Given the description of an element on the screen output the (x, y) to click on. 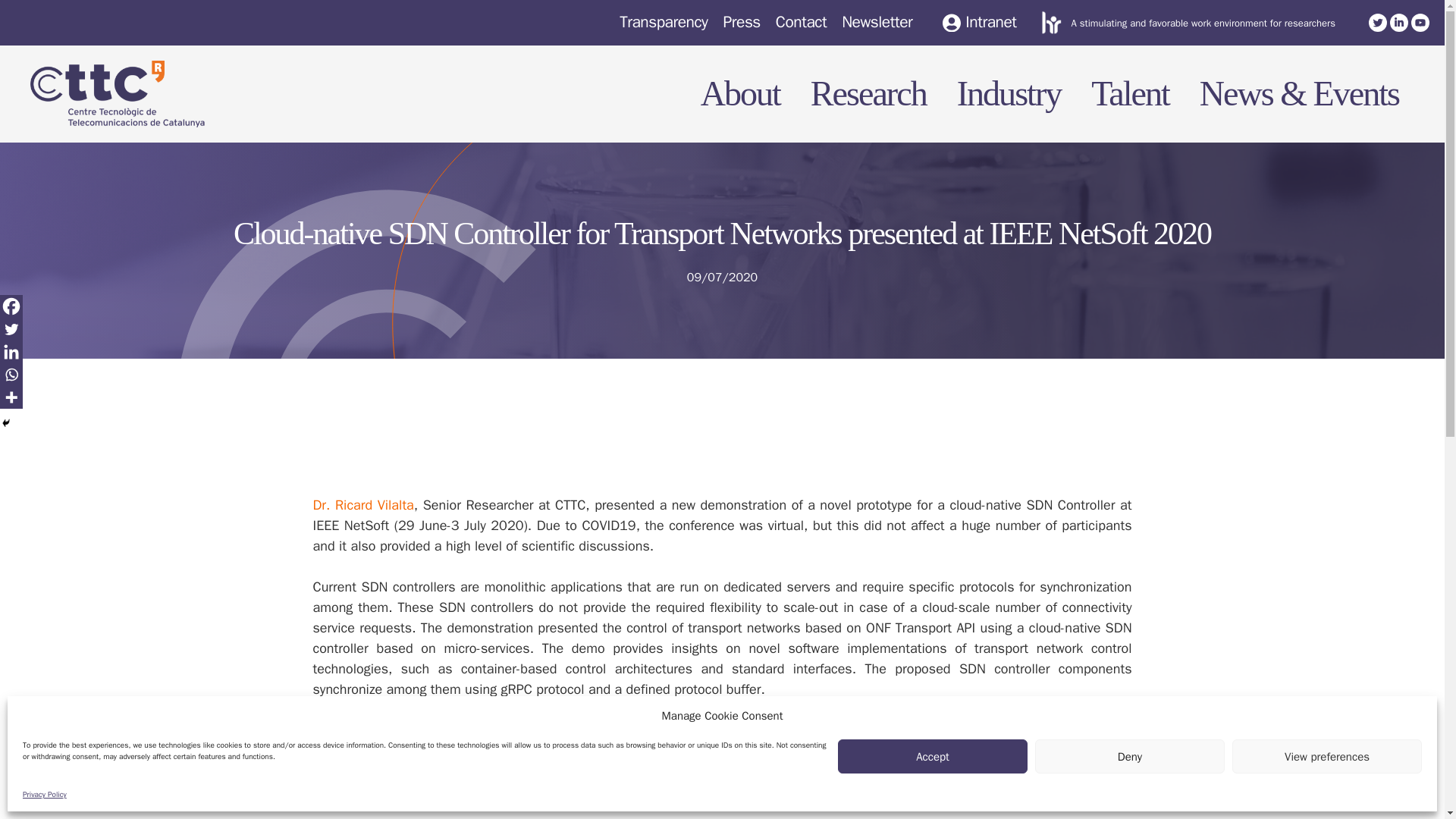
LinkedIn (1398, 22)
Accept (932, 756)
Transparency (663, 21)
More (11, 396)
A stimulating and favorable work environment for researchers (1203, 22)
About (732, 94)
Press (741, 21)
View preferences (1326, 756)
Intranet (979, 22)
Contact (801, 21)
Twitter (11, 328)
Linkedin (11, 351)
YouTube (1419, 22)
Facebook (11, 305)
Hide (5, 422)
